Given the description of an element on the screen output the (x, y) to click on. 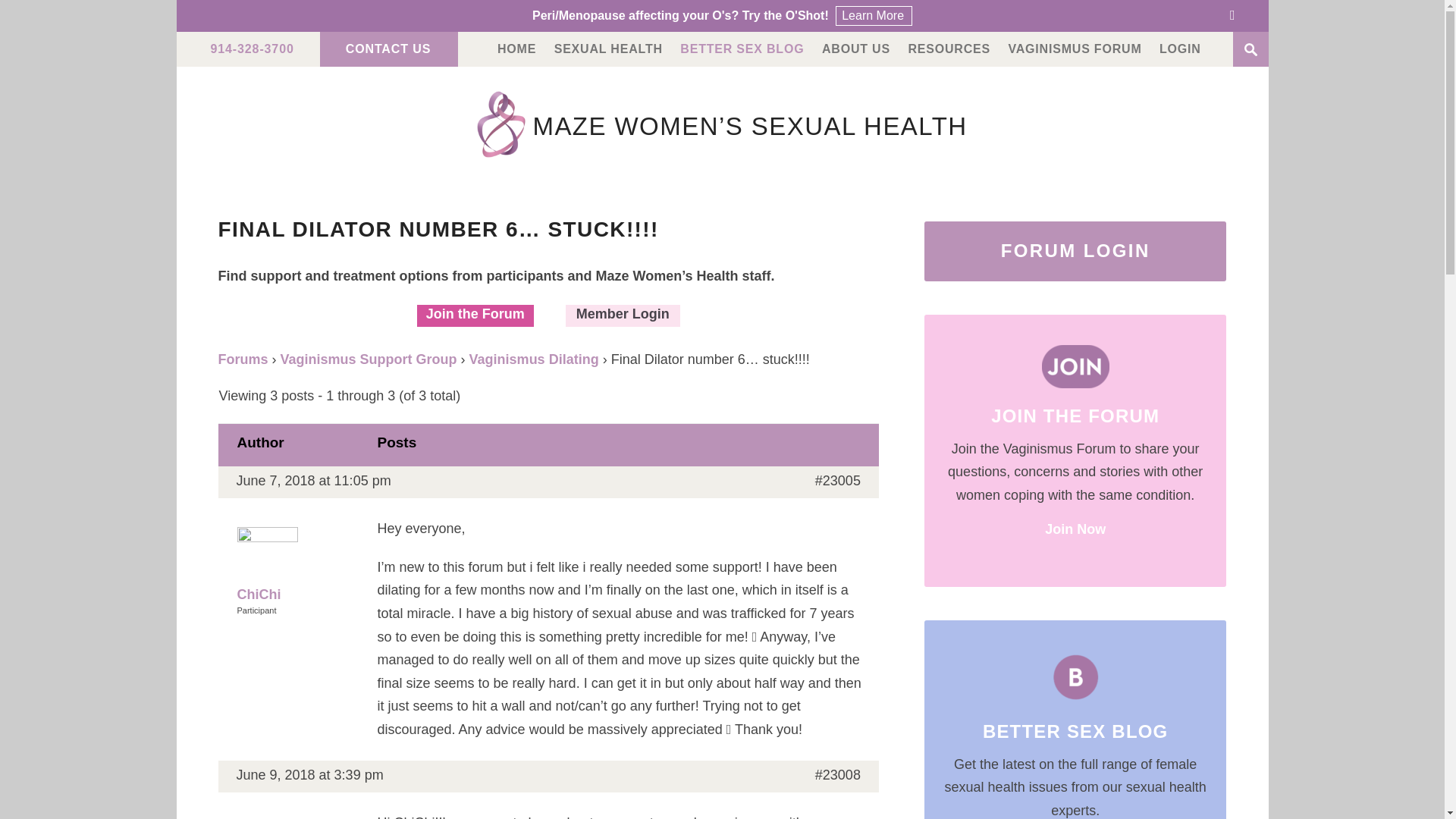
View ChiChi's profile (296, 566)
CONTACT US (388, 49)
914-328-3700 (252, 49)
ABOUT US (855, 49)
BETTER SEX BLOG (741, 49)
RESOURCES (948, 49)
HOME (516, 49)
SEXUAL HEALTH (608, 49)
